Given the description of an element on the screen output the (x, y) to click on. 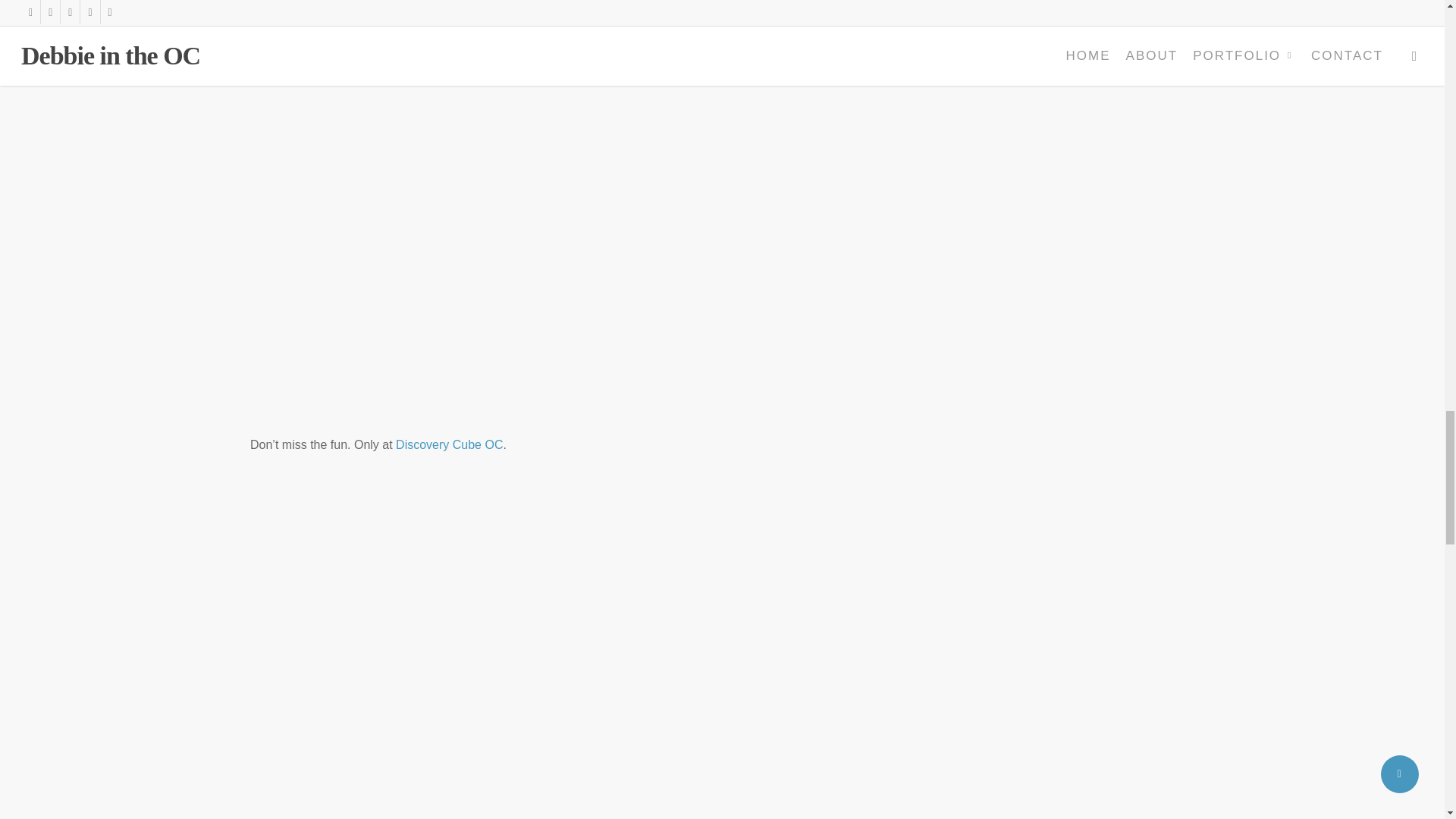
 Discovery Cube OC (448, 444)
Discovery Cube OC (448, 444)
